Given the description of an element on the screen output the (x, y) to click on. 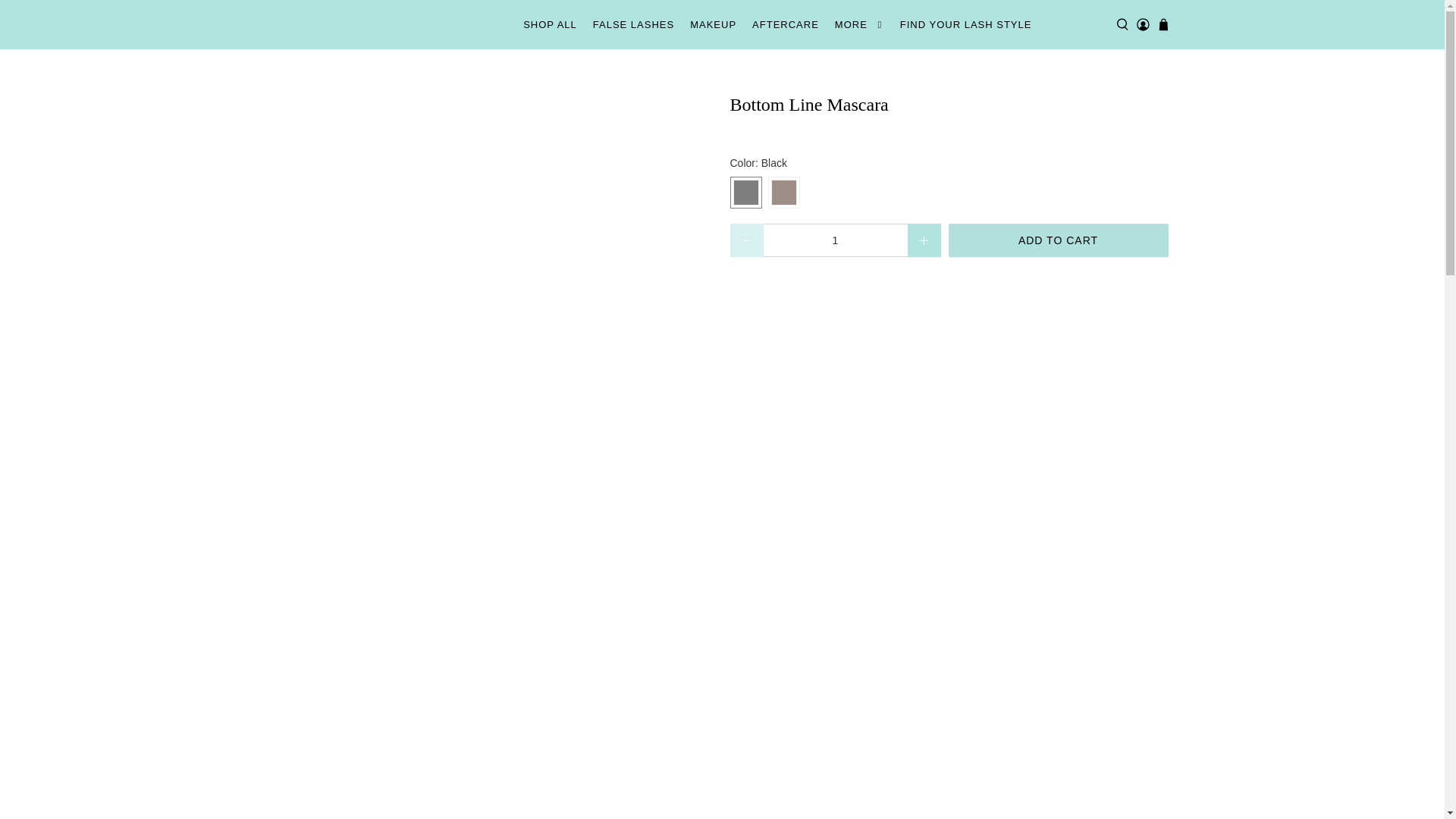
MAKEUP (713, 24)
AFTERCARE (785, 24)
MORE (859, 24)
SHOP ALL (550, 24)
FALSE LASHES (633, 24)
FIND YOUR LASH STYLE (965, 24)
1 (834, 240)
